Given the description of an element on the screen output the (x, y) to click on. 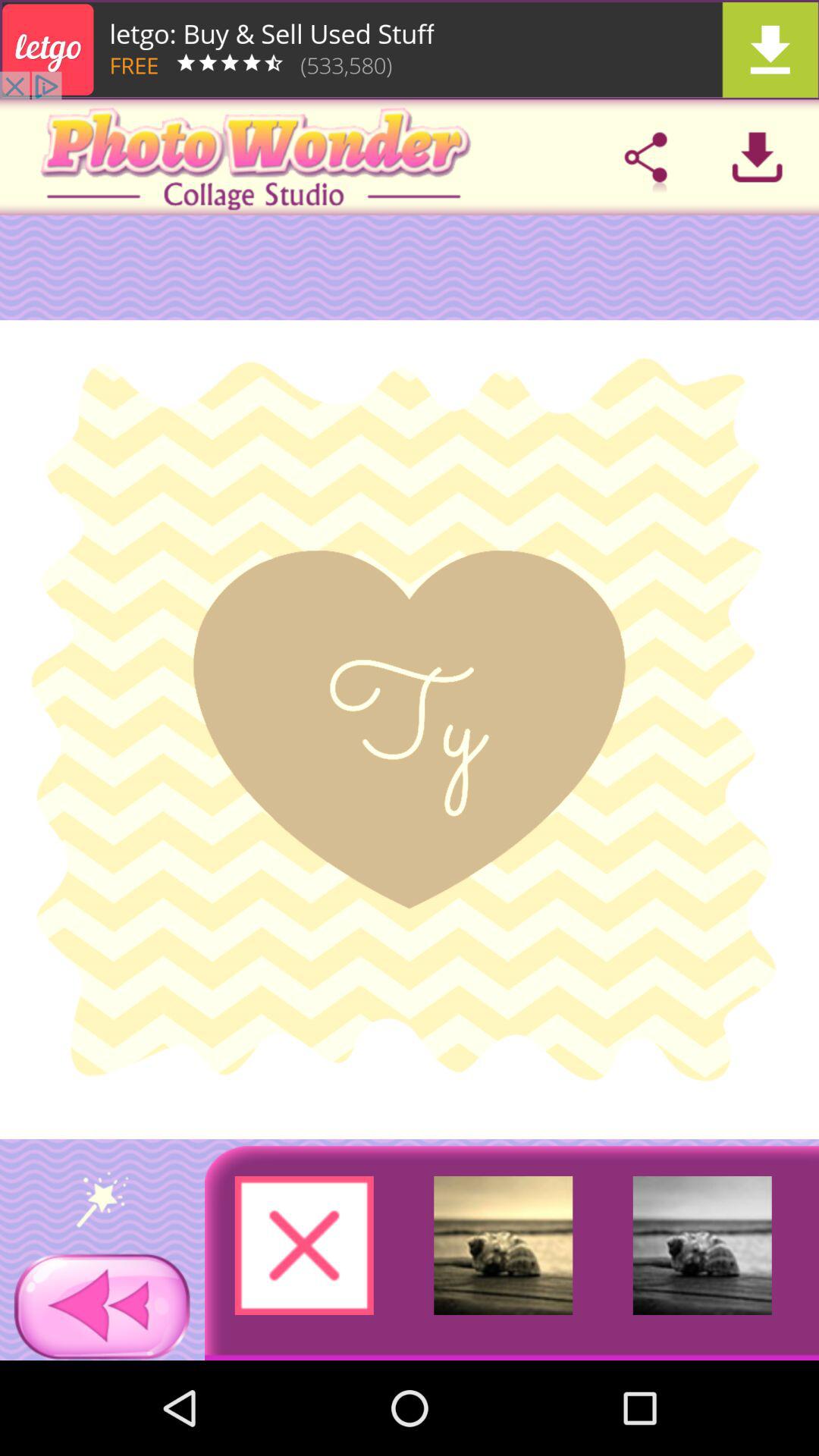
just say (102, 1198)
